Given the description of an element on the screen output the (x, y) to click on. 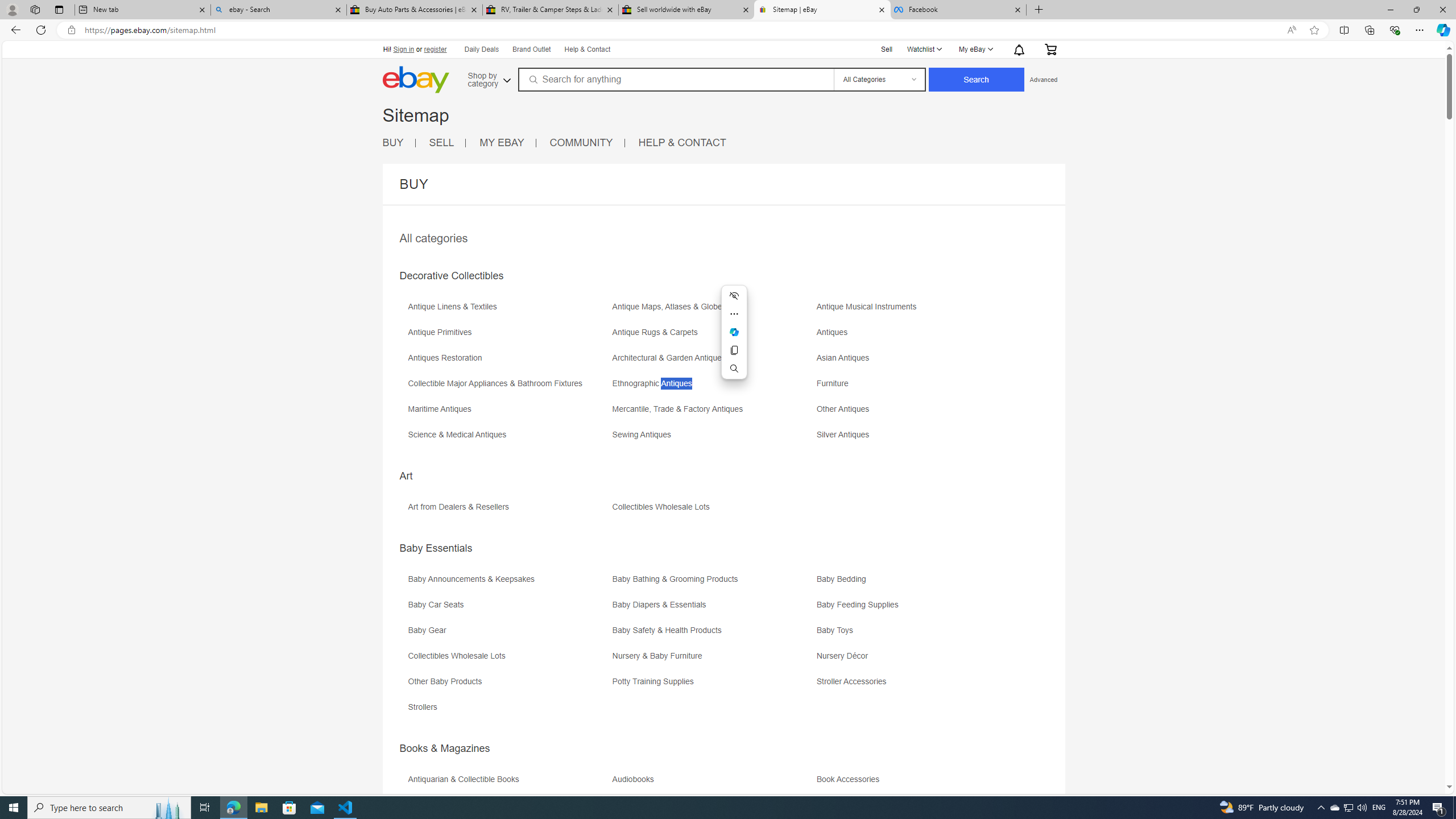
Strollers (508, 711)
HELP & CONTACT (681, 142)
BUY (398, 142)
Ethnographic Antiques (712, 387)
Sewing Antiques (712, 438)
Shop by category (488, 78)
Facebook (957, 9)
Mini menu on text selection (734, 331)
Strollers (424, 707)
Art from Dealers & Resellers (461, 506)
Furniture (835, 383)
Baby Bathing & Grooming Products (712, 582)
